Given the description of an element on the screen output the (x, y) to click on. 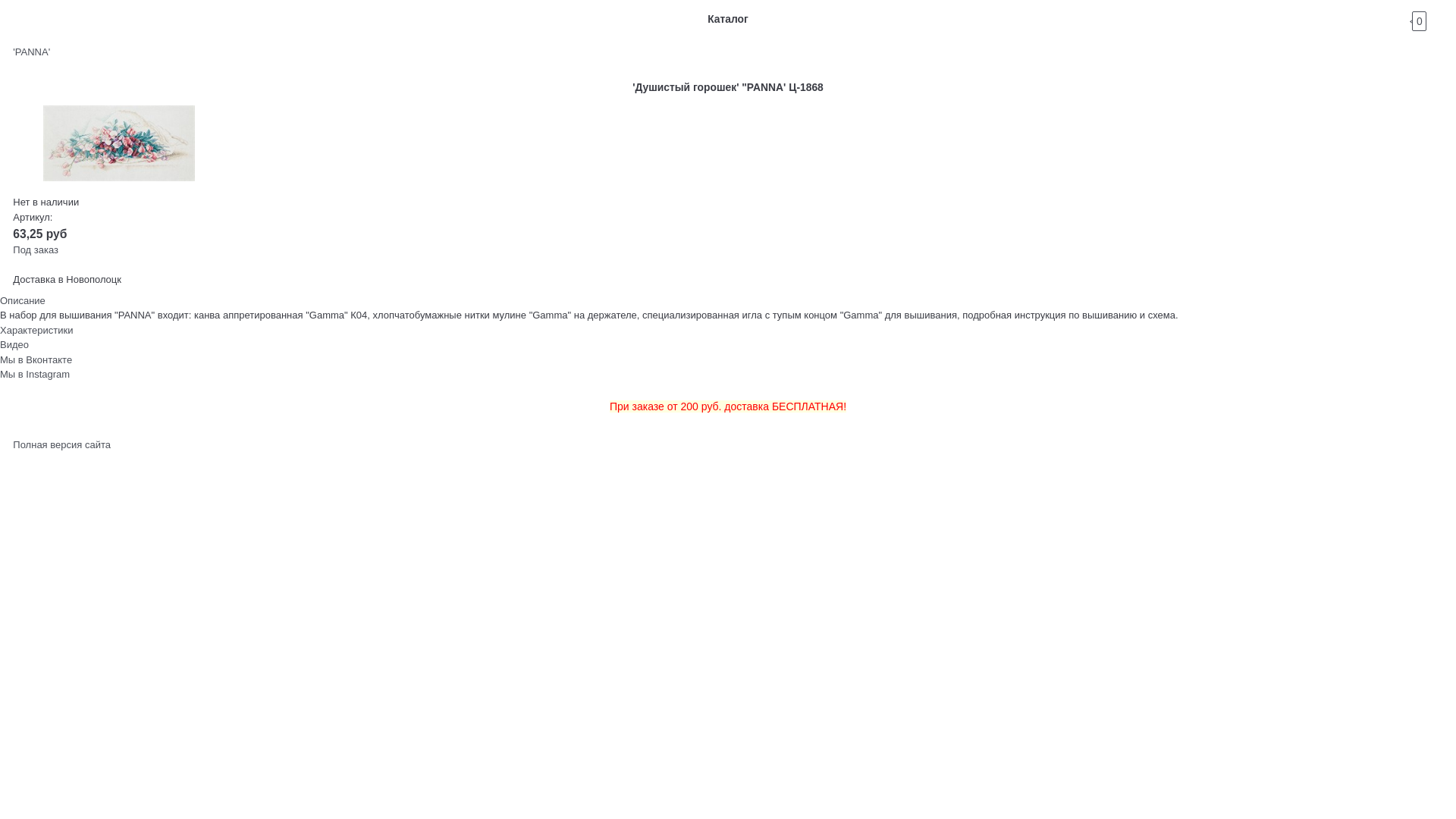
0 Element type: text (1432, 18)
